Given the description of an element on the screen output the (x, y) to click on. 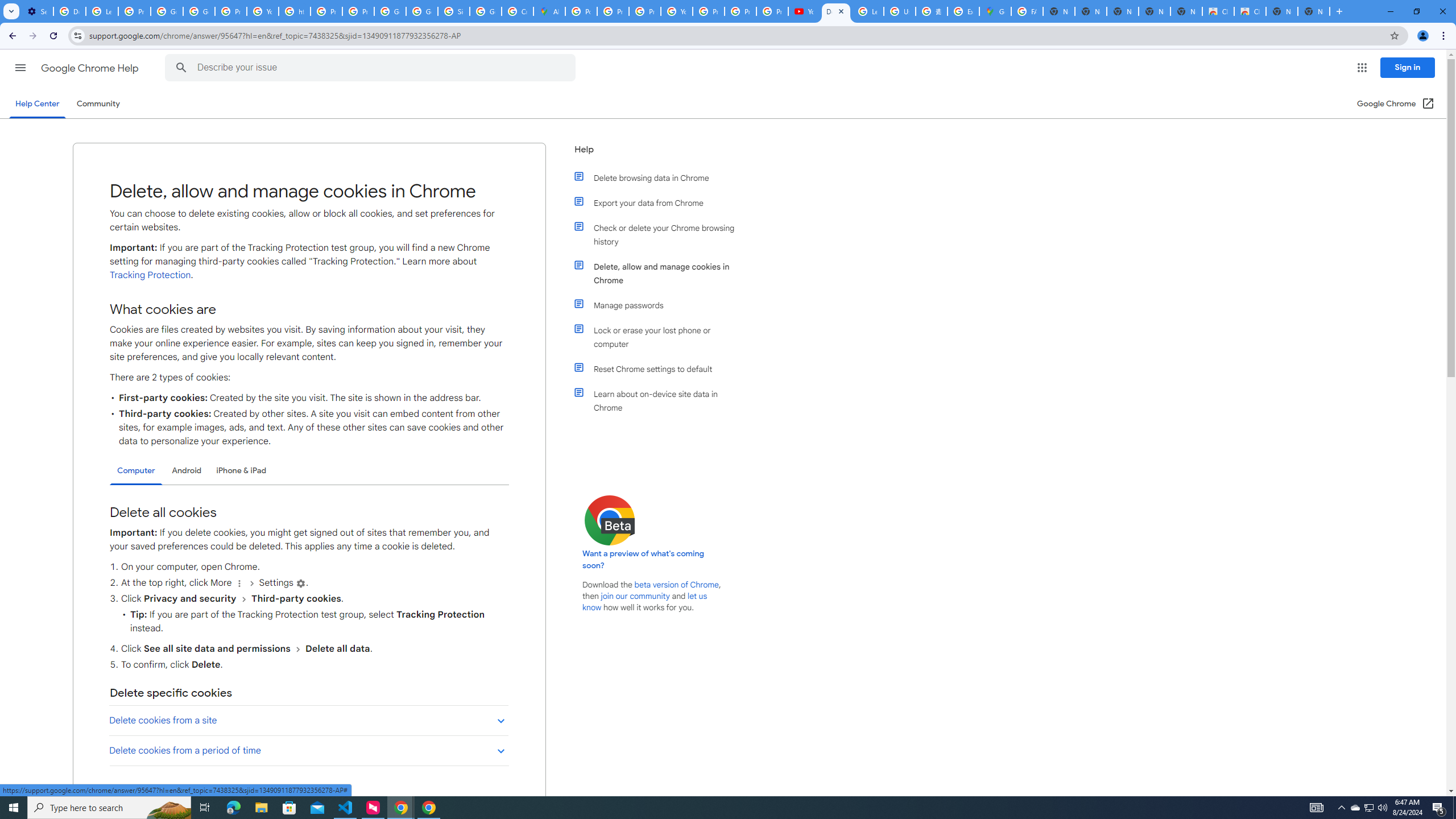
Describe your issue (371, 67)
New Tab (1313, 11)
Sign in - Google Accounts (453, 11)
iPhone & iPad (240, 470)
Delete cookies from a site (308, 720)
Create your Google Account (517, 11)
YouTube (804, 11)
Privacy Help Center - Policies Help (644, 11)
Search Help Center (181, 67)
Delete photos & videos - Computer - Google Photos Help (69, 11)
Computer (136, 470)
Policy Accountability and Transparency - Transparency Center (581, 11)
